Given the description of an element on the screen output the (x, y) to click on. 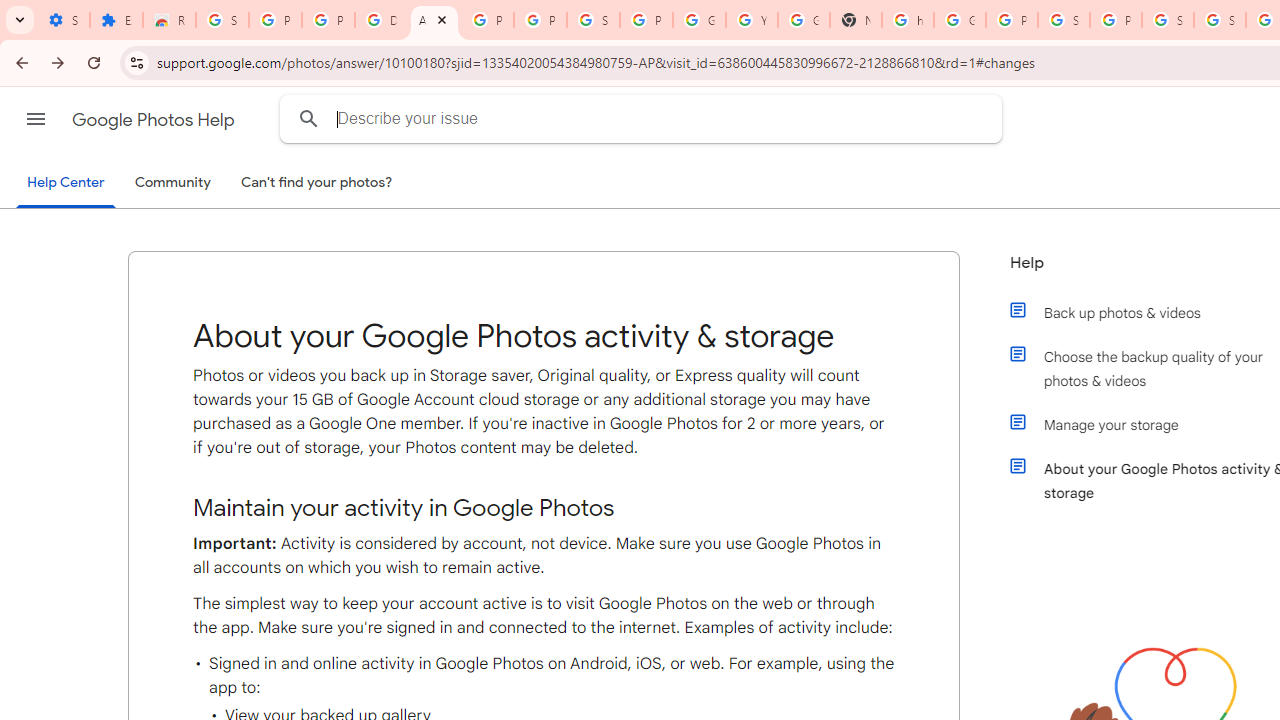
Sign in - Google Accounts (1219, 20)
Sign in - Google Accounts (1167, 20)
New Tab (855, 20)
Help Center (65, 183)
